Given the description of an element on the screen output the (x, y) to click on. 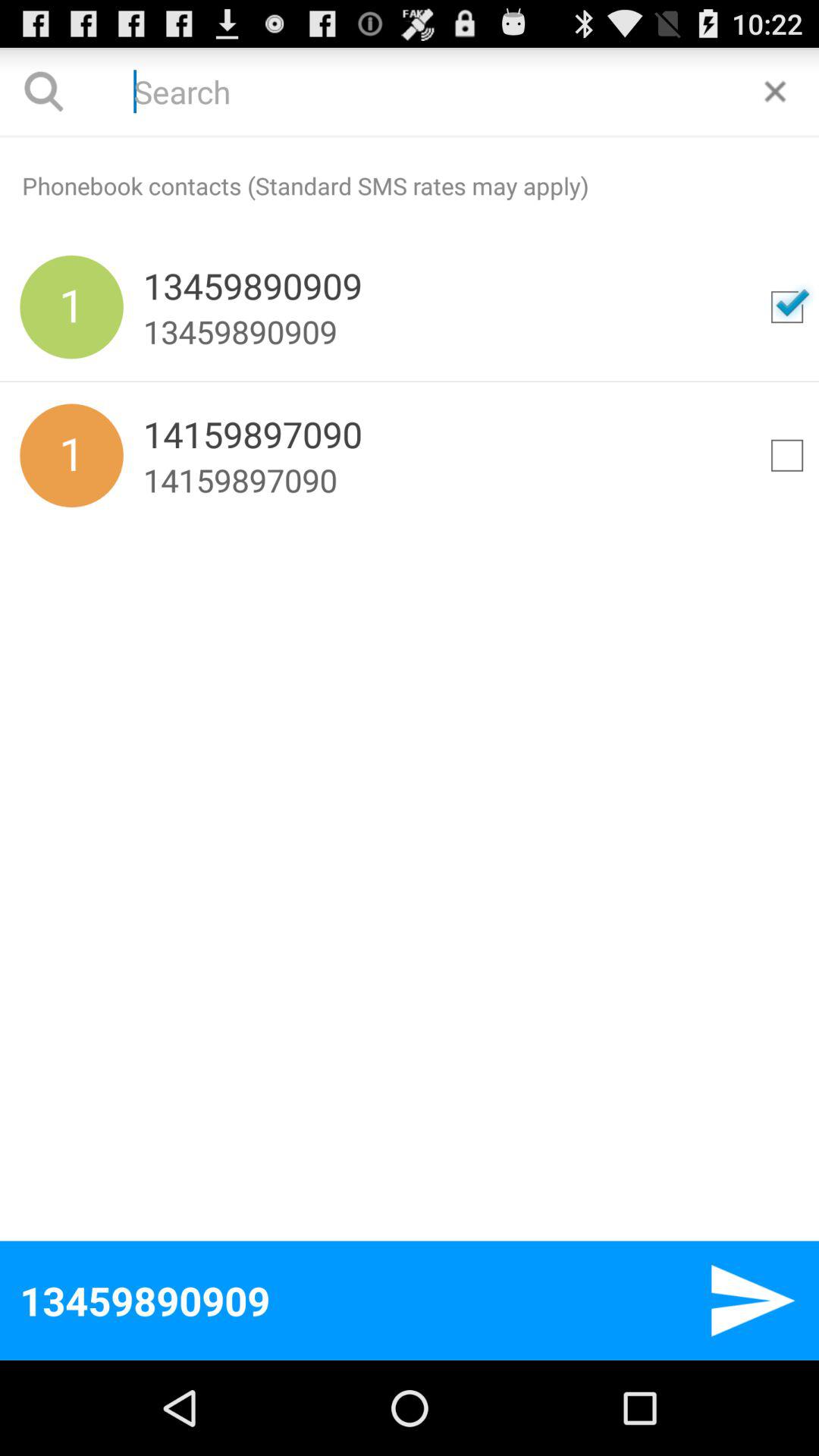
tap icon above phonebook contacts standard (409, 136)
